Given the description of an element on the screen output the (x, y) to click on. 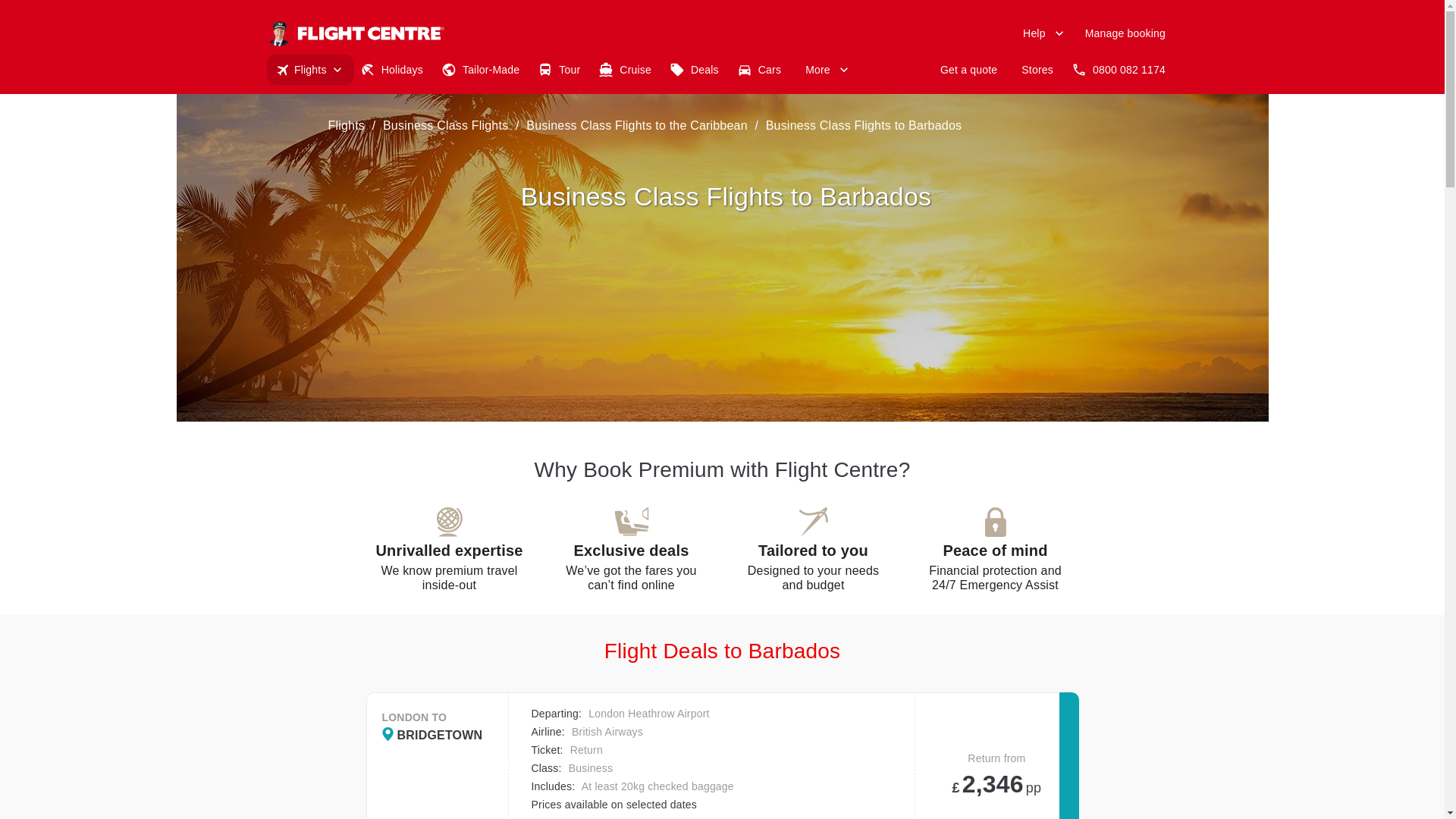
Manage booking (1125, 33)
Tour (561, 69)
Flights (309, 69)
Cars (761, 69)
Business Class Flights to the Caribbean (636, 124)
Cruise (627, 69)
More (825, 69)
Deals (696, 69)
Get a quote (968, 69)
More (825, 69)
